Given the description of an element on the screen output the (x, y) to click on. 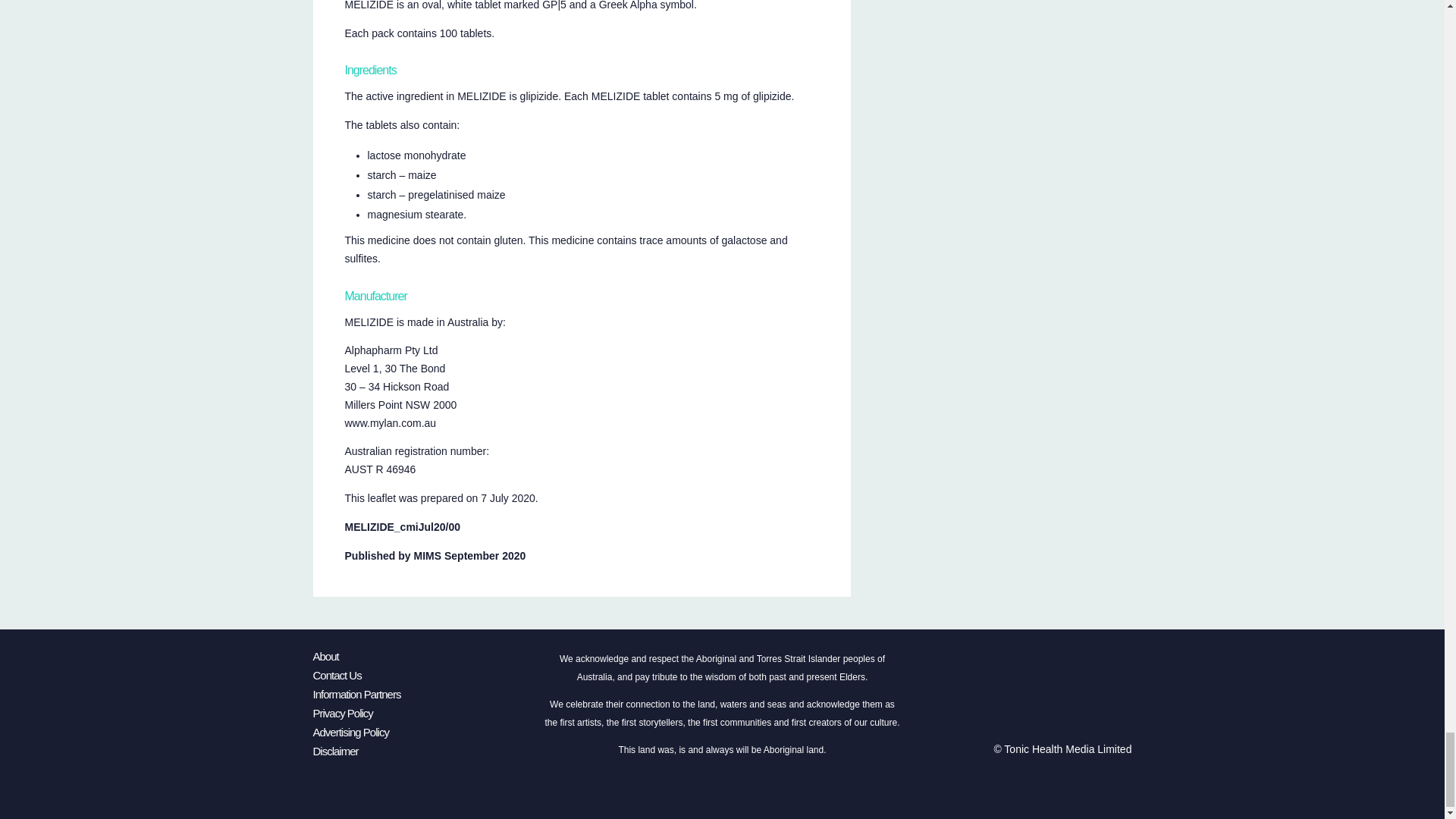
About Our Information Partners (356, 694)
